Given the description of an element on the screen output the (x, y) to click on. 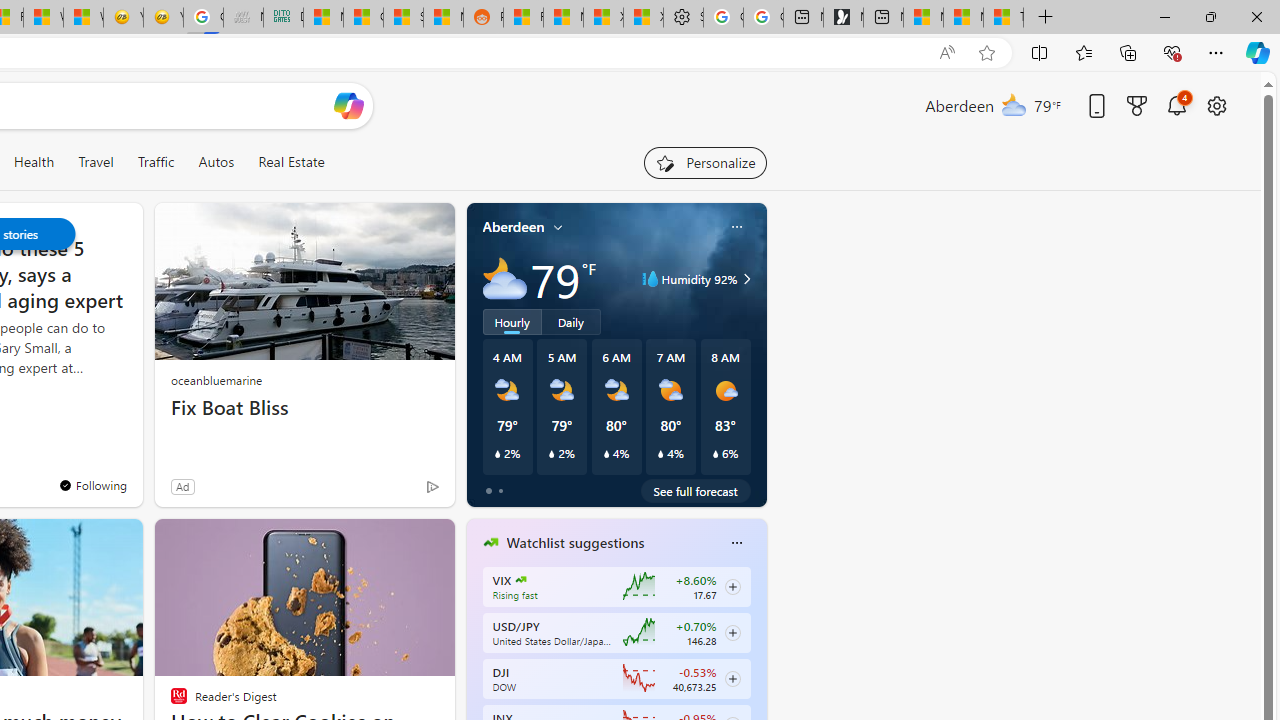
Watchlist suggestions (575, 543)
CBOE Market Volatility Index (520, 579)
Mostly cloudy (504, 278)
